Given the description of an element on the screen output the (x, y) to click on. 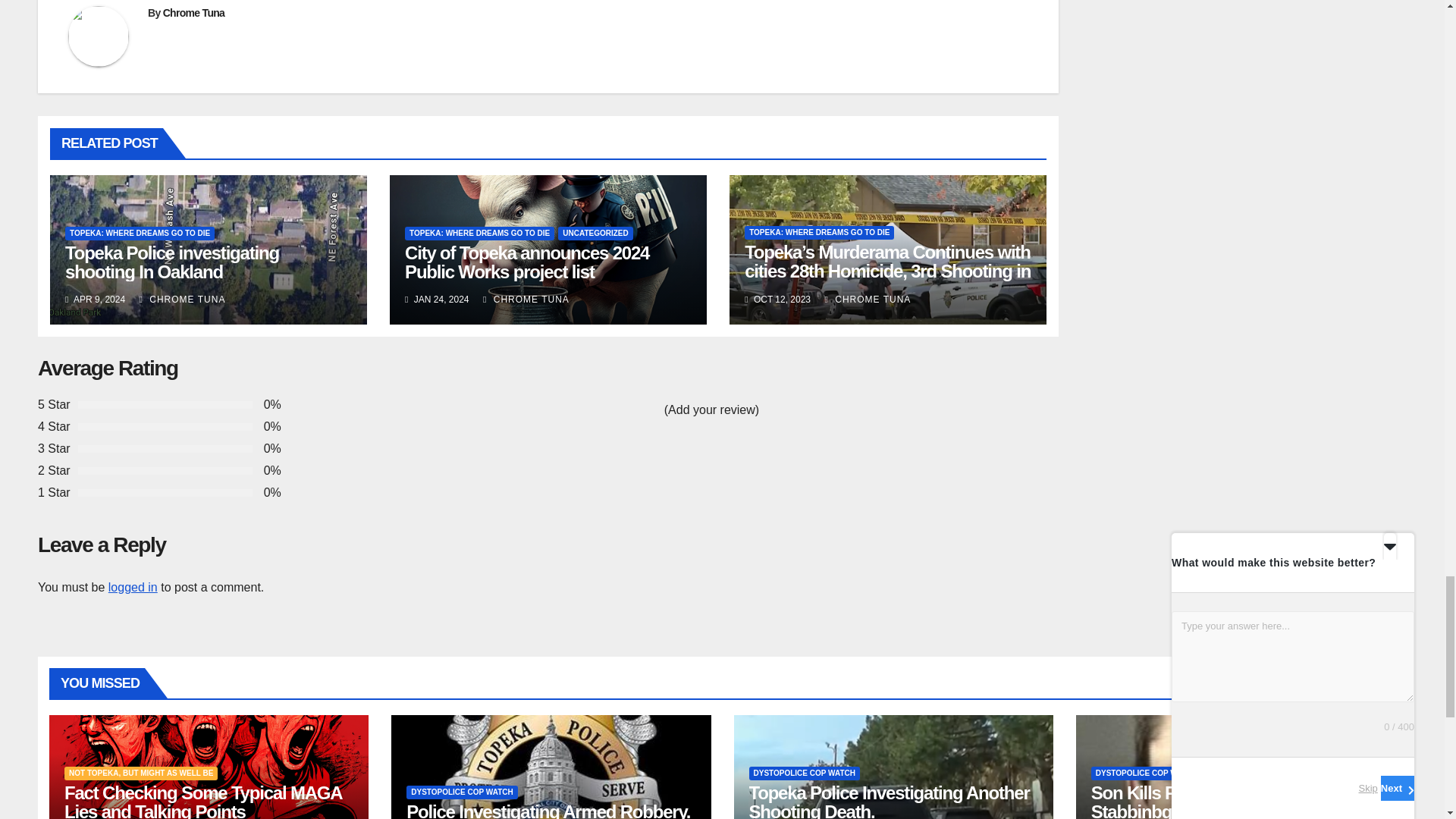
Permalink to: Police Investigating Armed Robbery. (548, 810)
